Given the description of an element on the screen output the (x, y) to click on. 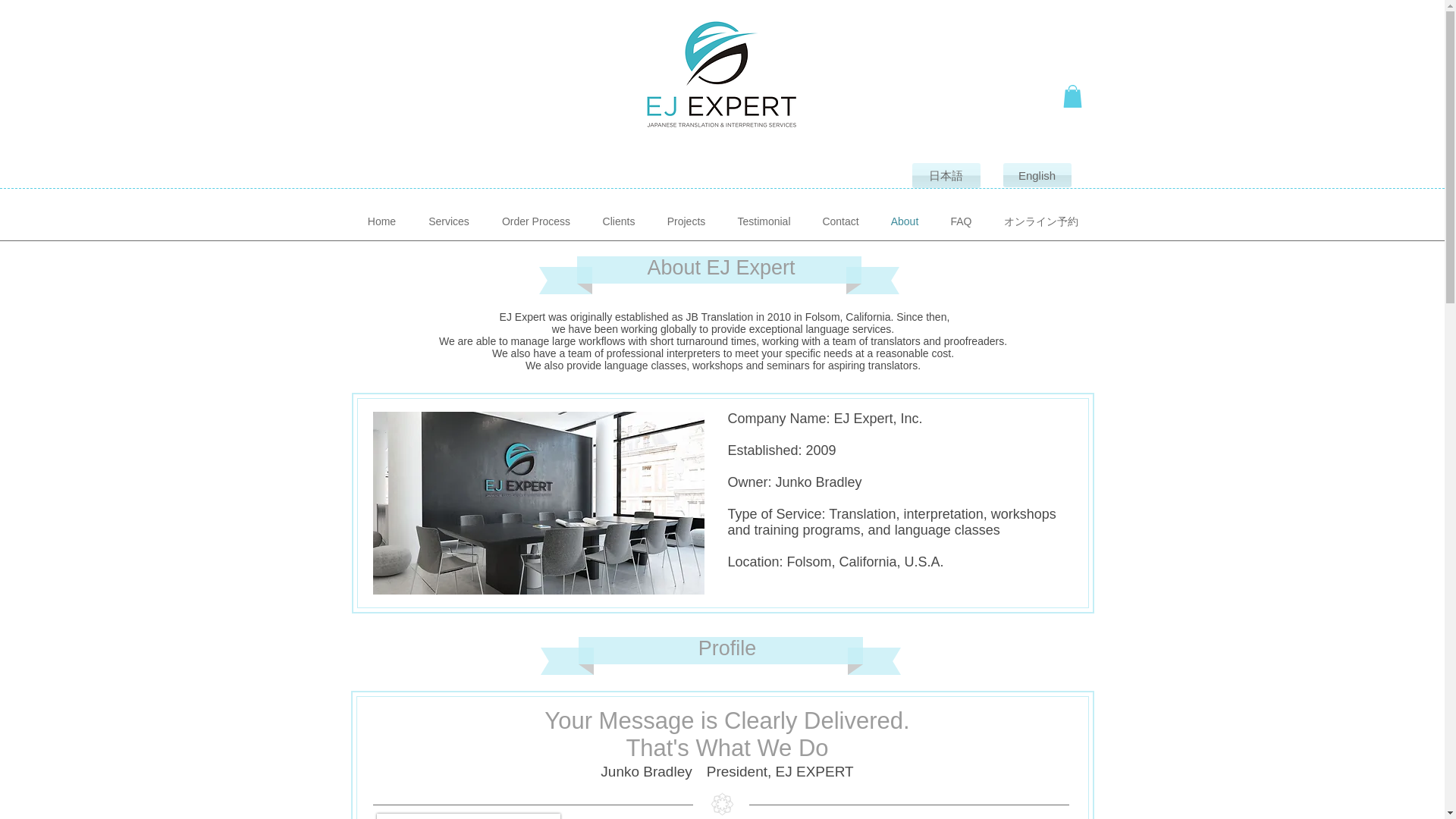
Services (449, 221)
Contact (840, 221)
FAQ (960, 221)
English (1036, 174)
s.jpg (538, 502)
Clients (618, 221)
Home (382, 221)
About (904, 221)
Testimonial (764, 221)
Order Process (535, 221)
